Given the description of an element on the screen output the (x, y) to click on. 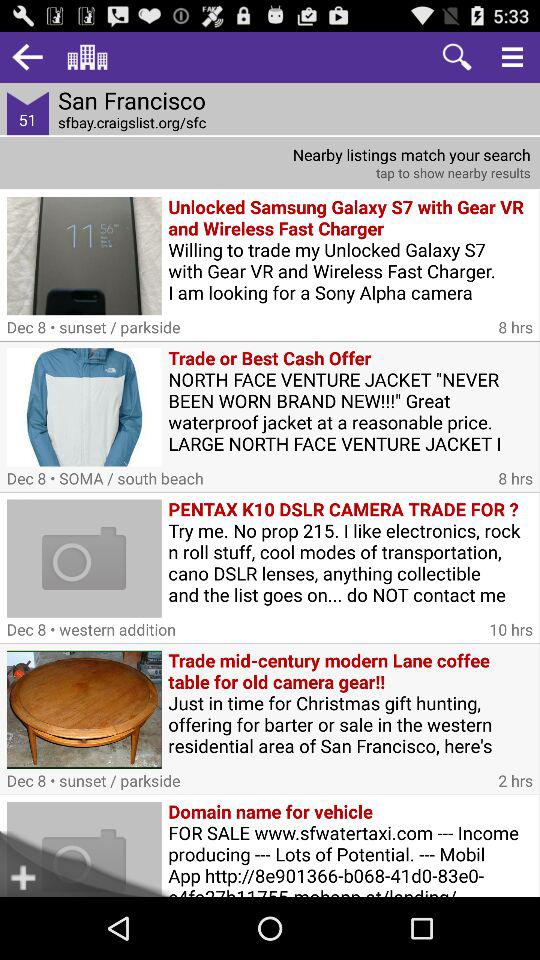
press icon to the left of the san francisco icon (27, 56)
